Given the description of an element on the screen output the (x, y) to click on. 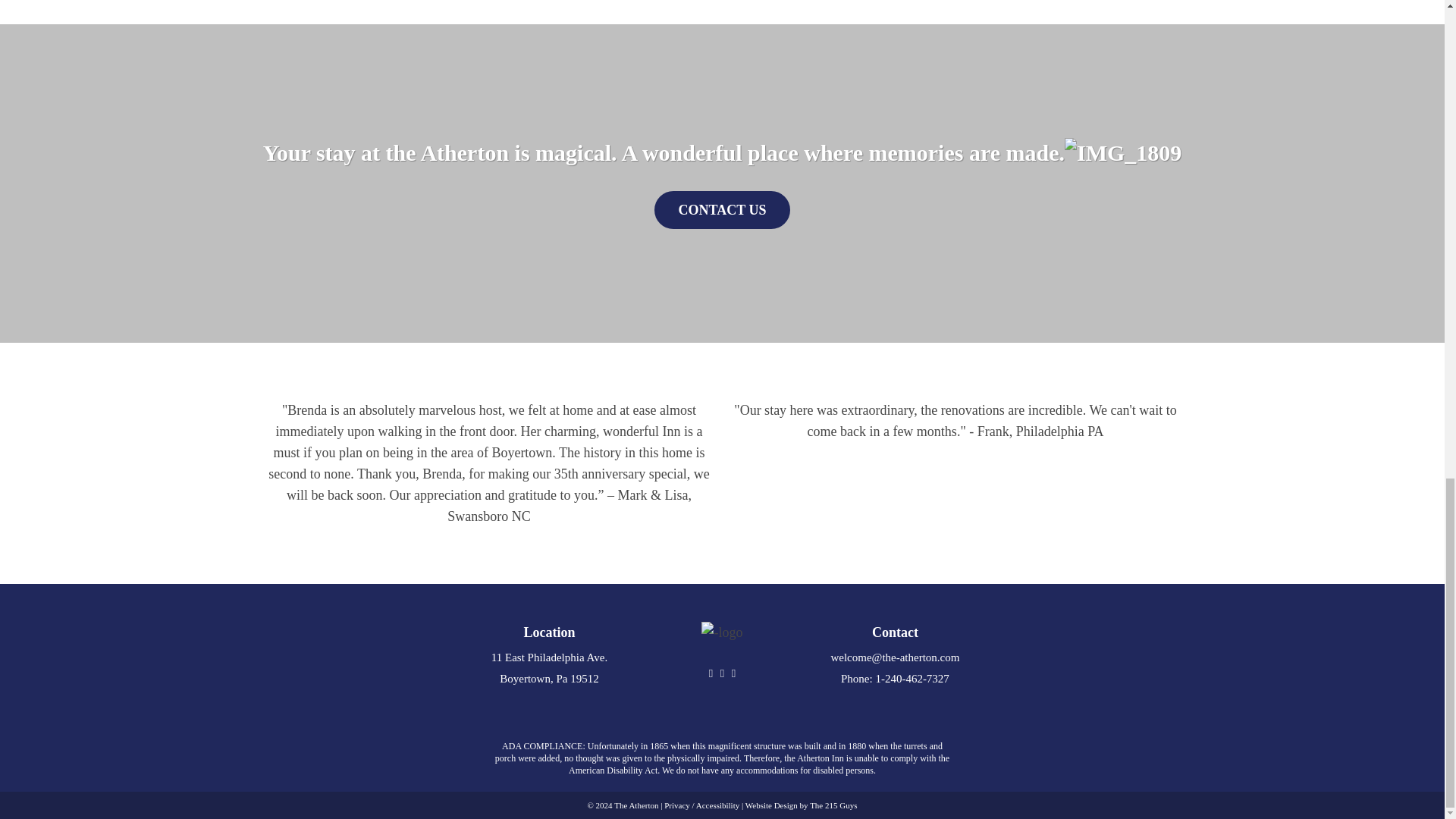
CONTACT US (721, 209)
Phone: 1-240-462-7327 (895, 678)
Website Design (771, 804)
Privacy (676, 804)
Accessibility (717, 804)
Boyertown, Pa 19512 (548, 678)
11 East Philadelphia Ave. (549, 657)
